Given the description of an element on the screen output the (x, y) to click on. 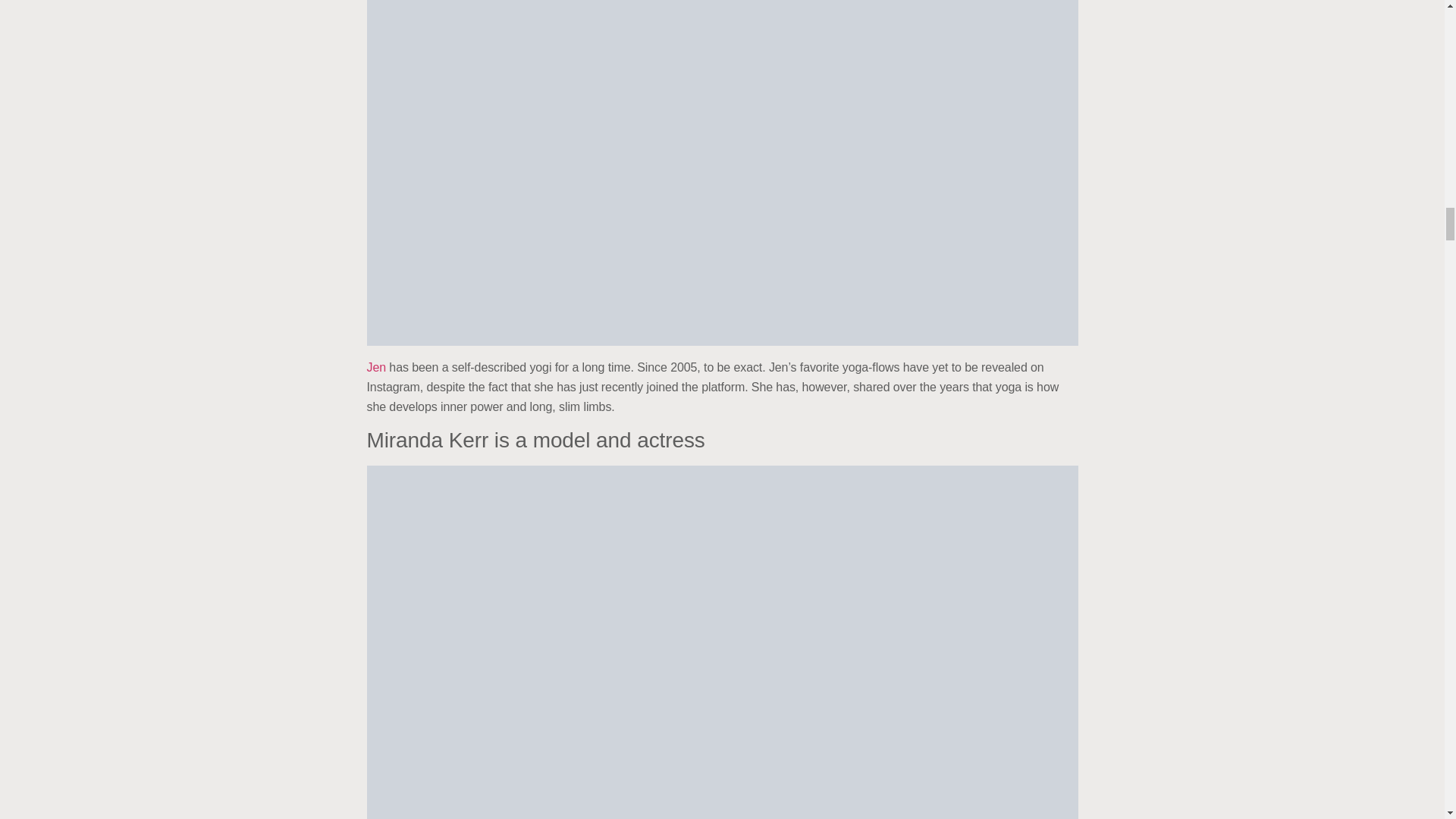
Jen (378, 367)
